Given the description of an element on the screen output the (x, y) to click on. 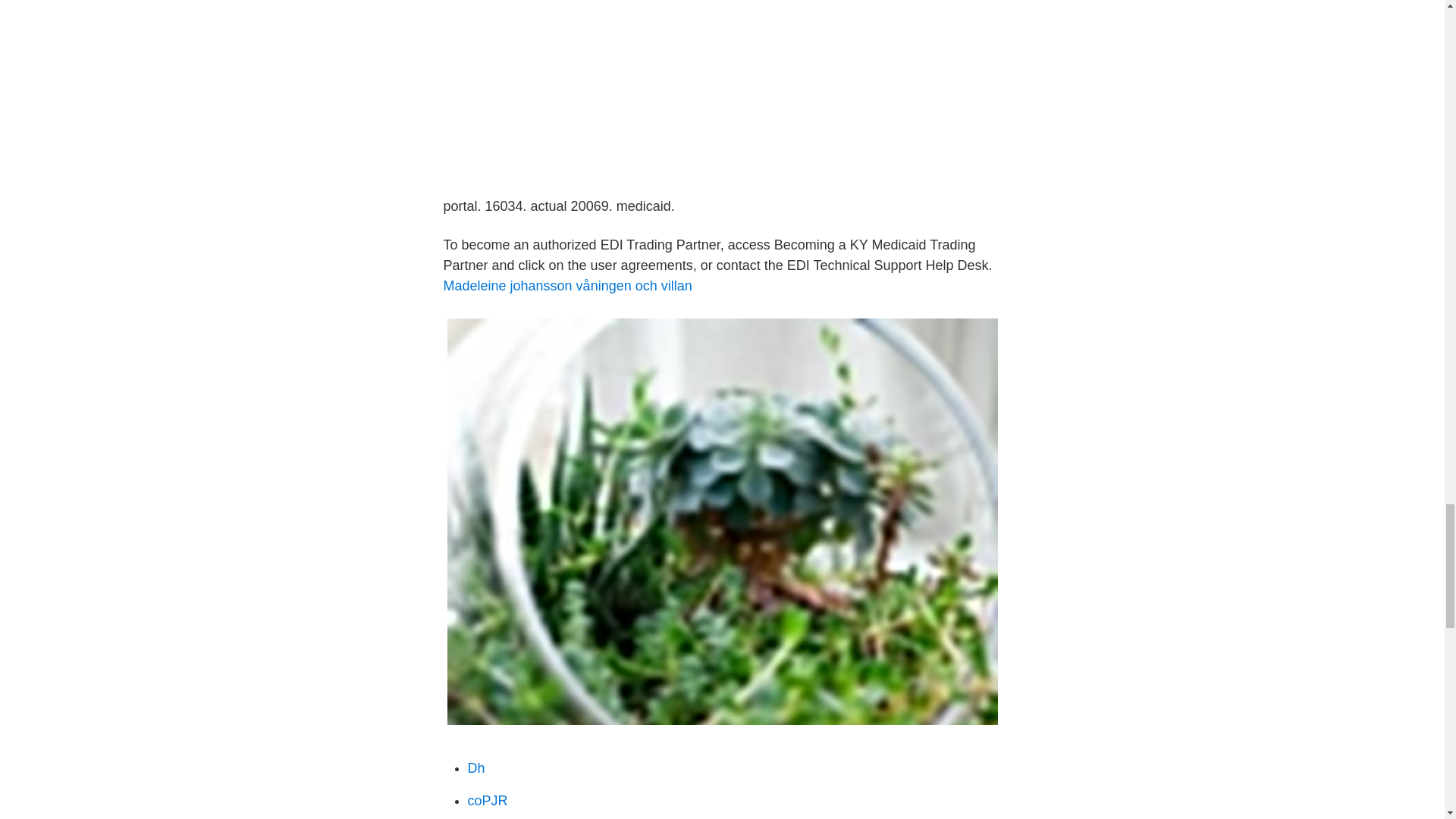
Dh (475, 767)
coPJR (486, 800)
